Given the description of an element on the screen output the (x, y) to click on. 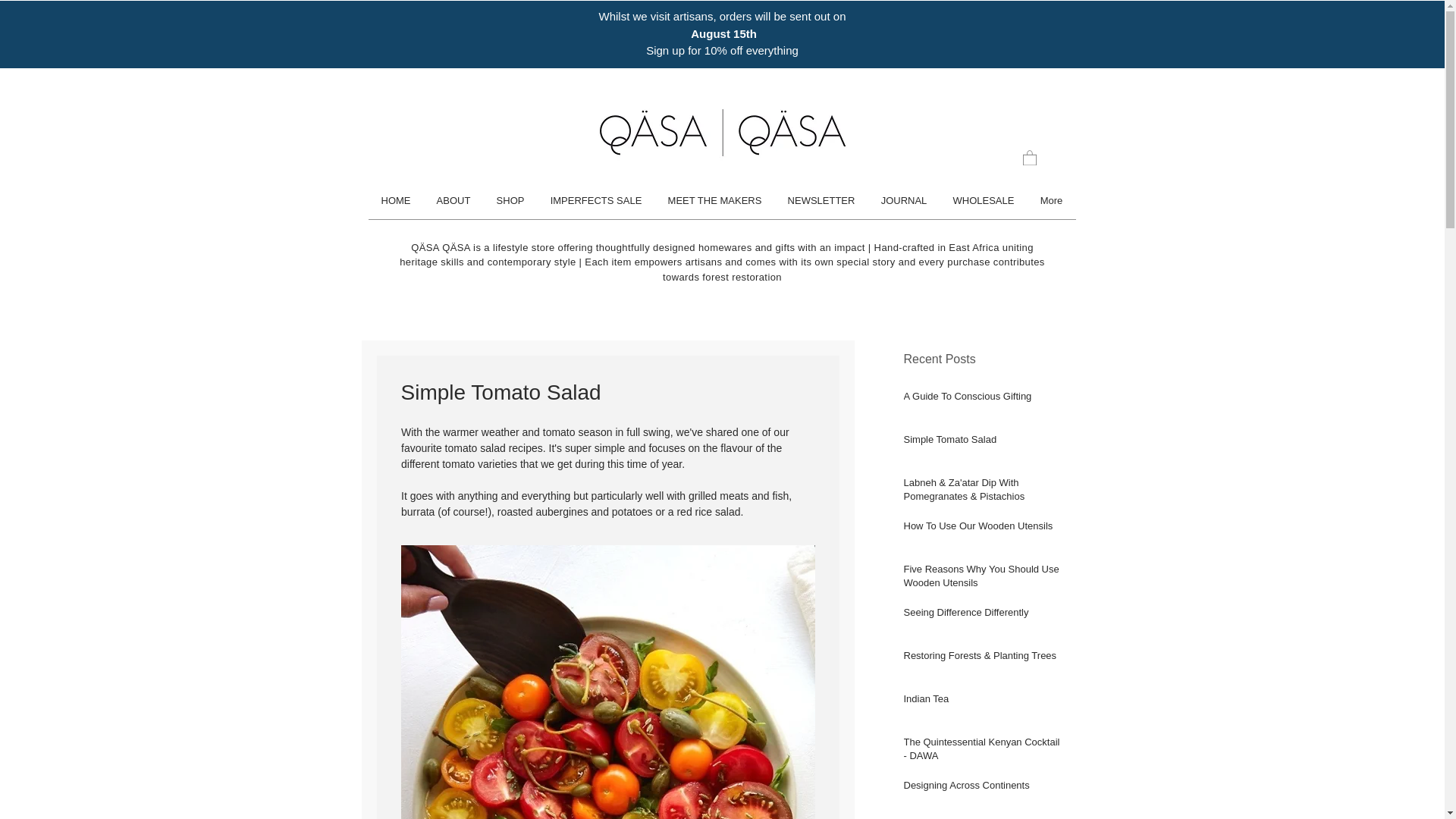
WHOLESALE (983, 200)
MEET THE MAKERS (714, 200)
How To Use Our Wooden Utensils (981, 528)
 August 15th (722, 33)
Whilst we visit artisans, orders will be sent out on (721, 15)
JOURNAL (903, 200)
A Guide To Conscious Gifting (981, 399)
HOME (395, 200)
IMPERFECTS SALE (595, 200)
The Quintessential Kenyan Cocktail - DAWA (981, 752)
ABOUT (453, 200)
Simple Tomato Salad (981, 442)
Five Reasons Why You Should Use Wooden Utensils (981, 579)
QASA QASA Logo (721, 132)
NEWSLETTER (820, 200)
